Given the description of an element on the screen output the (x, y) to click on. 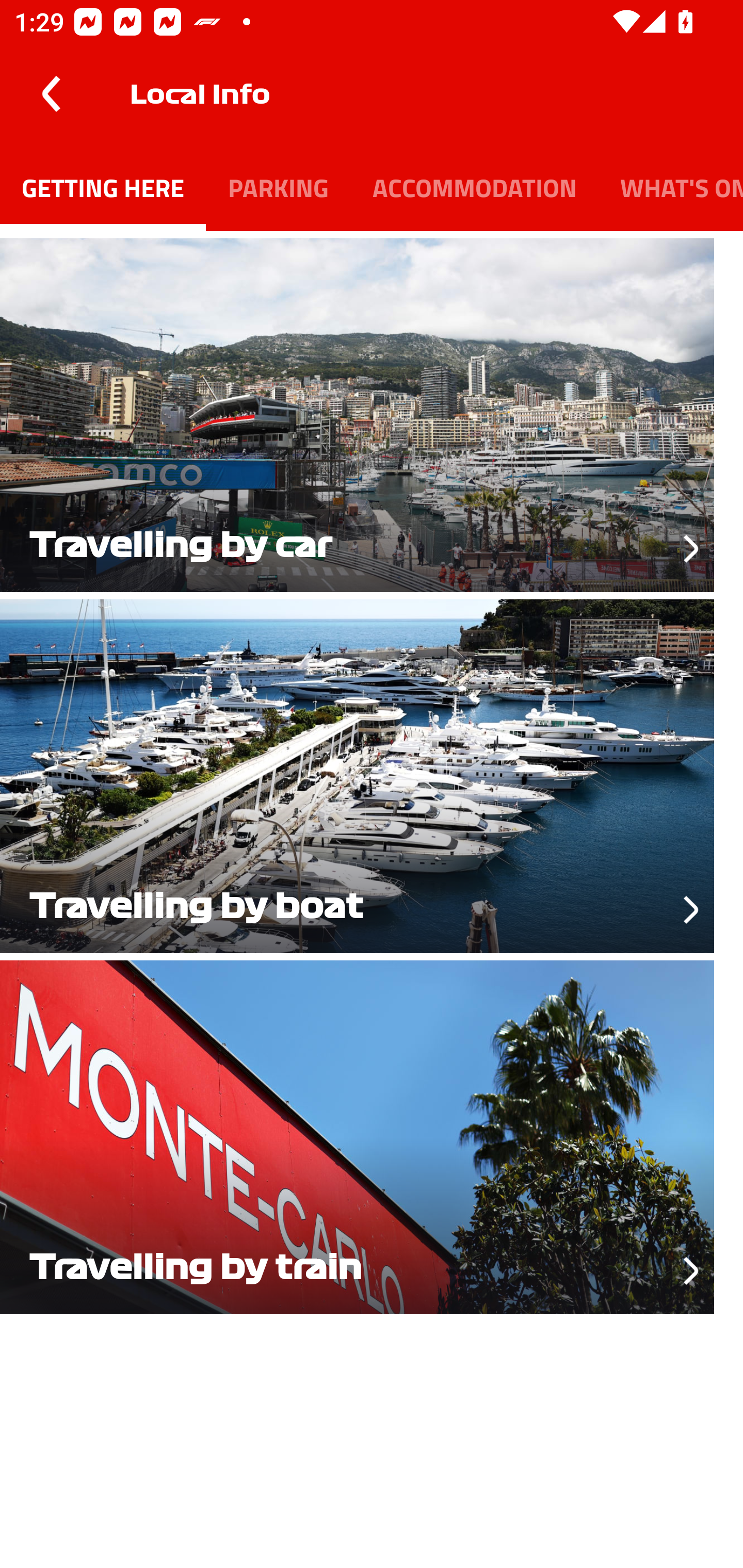
Navigate up (50, 93)
Parking PARKING (277, 187)
Accommodation ACCOMMODATION (474, 187)
What's On WHAT'S ON (670, 187)
Travelling by car (371, 411)
Travelling by boat (371, 772)
Travelling by train (371, 1133)
